Given the description of an element on the screen output the (x, y) to click on. 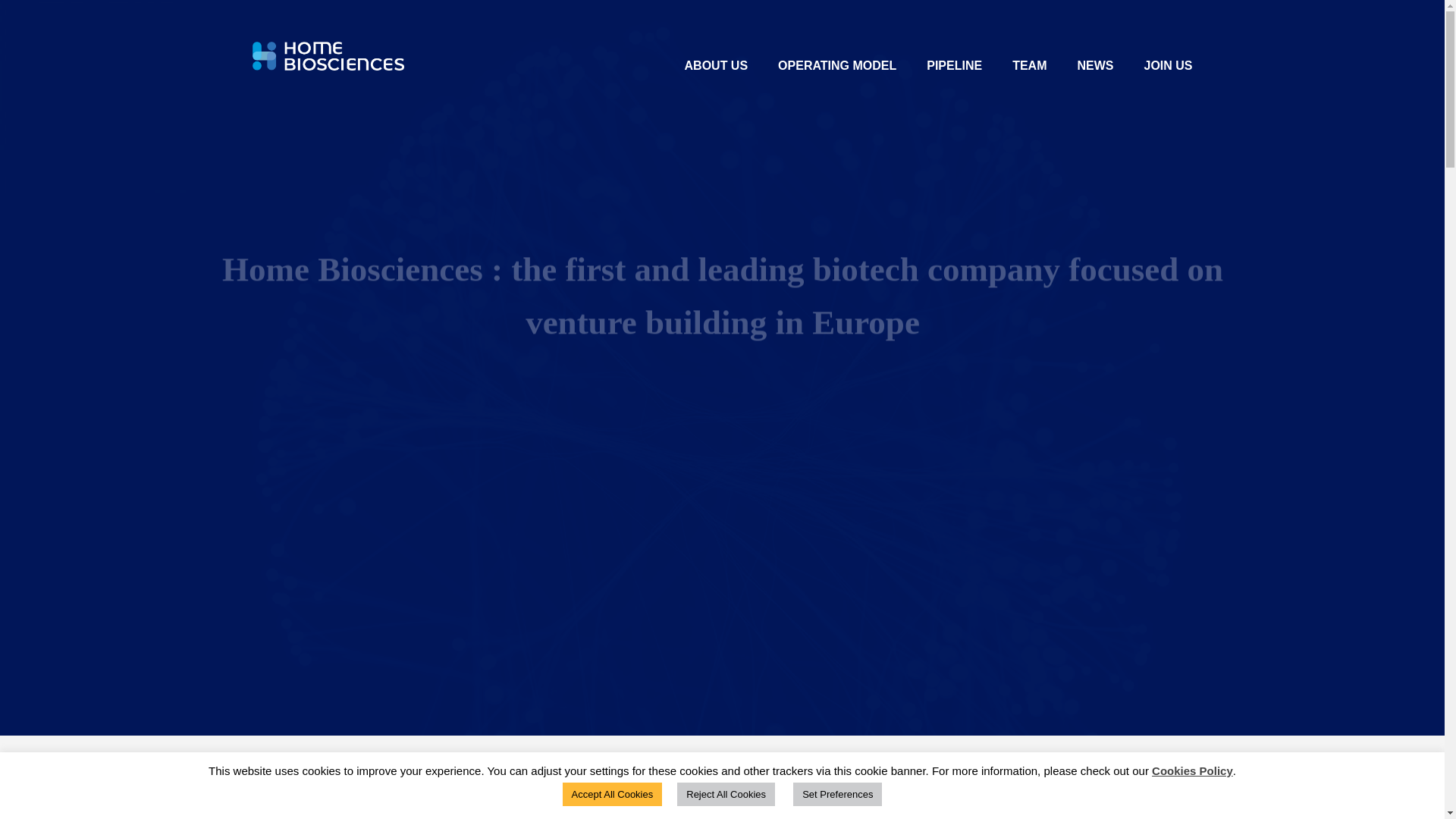
Accept All Cookies (612, 793)
JOIN US (1167, 72)
ABOUT US (716, 72)
Reject All Cookies (725, 793)
Cookies Policy (1192, 770)
TEAM (1028, 72)
OPERATING MODEL (836, 72)
NEWS (1095, 72)
PIPELINE (953, 72)
Set Preferences (837, 793)
